Given the description of an element on the screen output the (x, y) to click on. 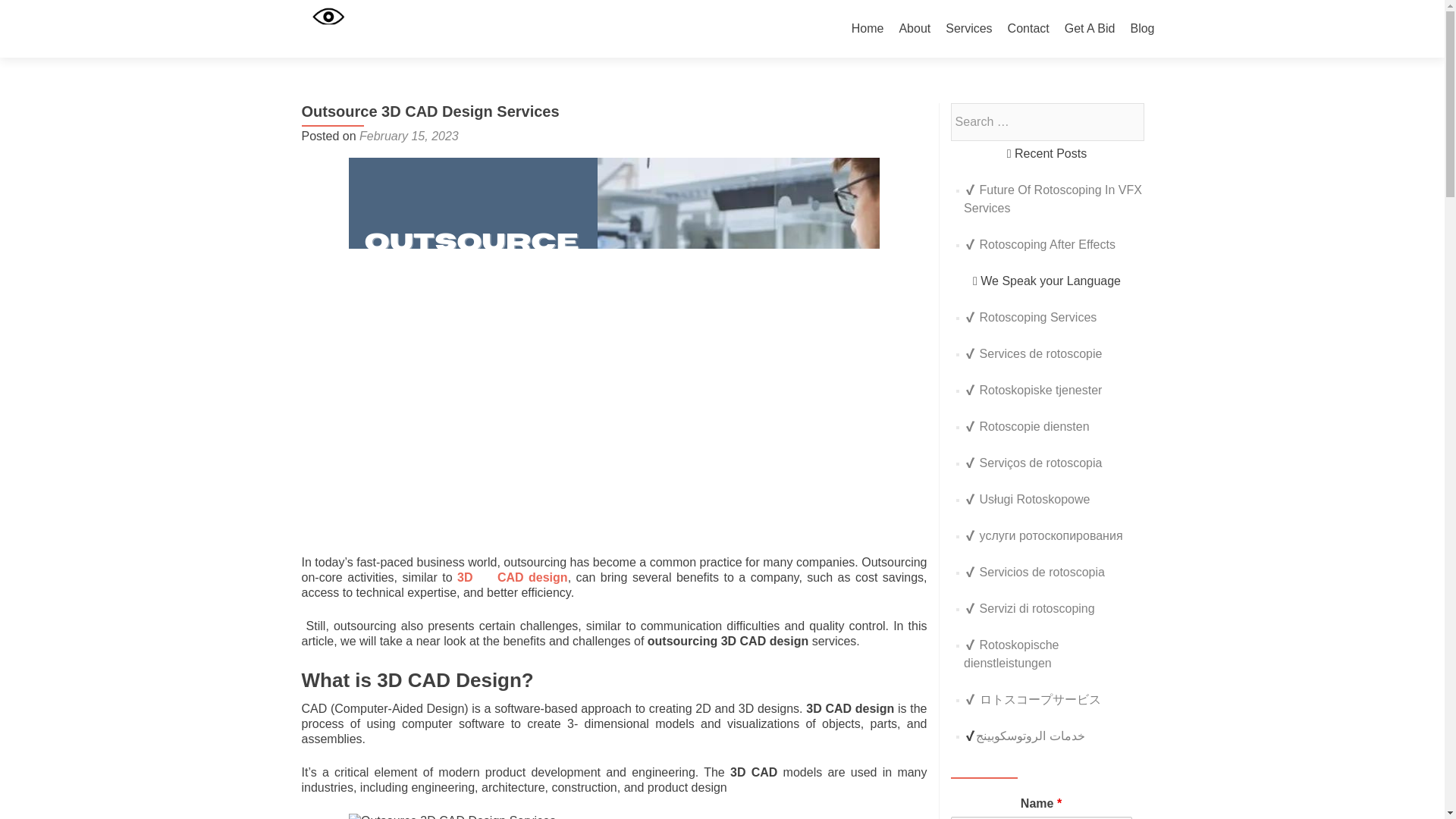
About (914, 28)
3D     CAD design (512, 576)
Search (1125, 120)
Get A Bid (1089, 28)
Search (1125, 120)
Contact (1028, 28)
Blog (1141, 28)
Home (867, 28)
Search (1125, 120)
February 15, 2023 (408, 135)
Services (967, 28)
